Given the description of an element on the screen output the (x, y) to click on. 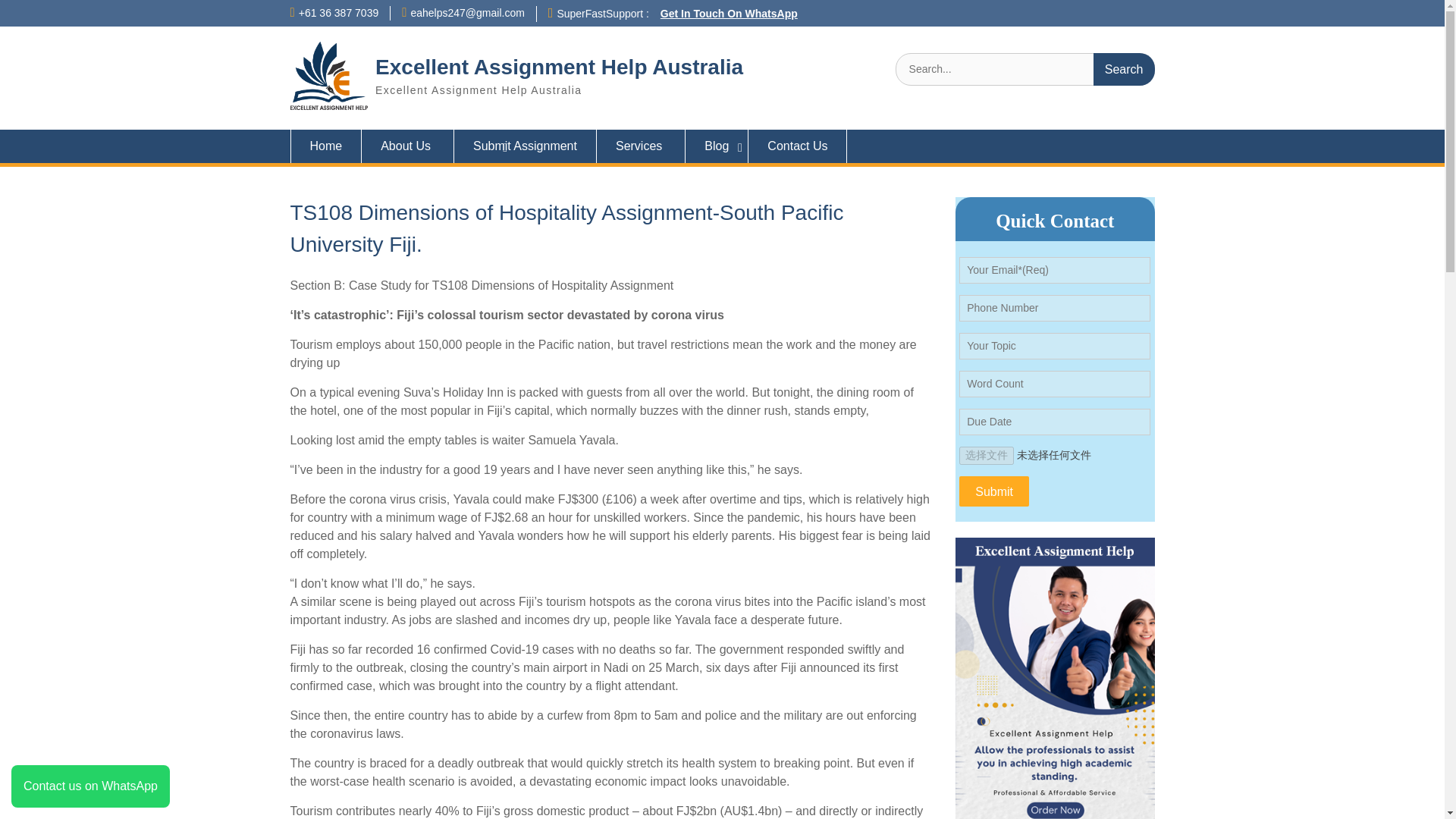
Excellent Assignment Help Australia (558, 66)
Search (1123, 69)
Search for: (1024, 69)
Submit Assignment (525, 145)
Home (325, 145)
About Us (407, 145)
Get In Touch On WhatsApp (729, 13)
Services (640, 145)
Search (1123, 69)
Submit (994, 490)
Search (1123, 69)
